Given the description of an element on the screen output the (x, y) to click on. 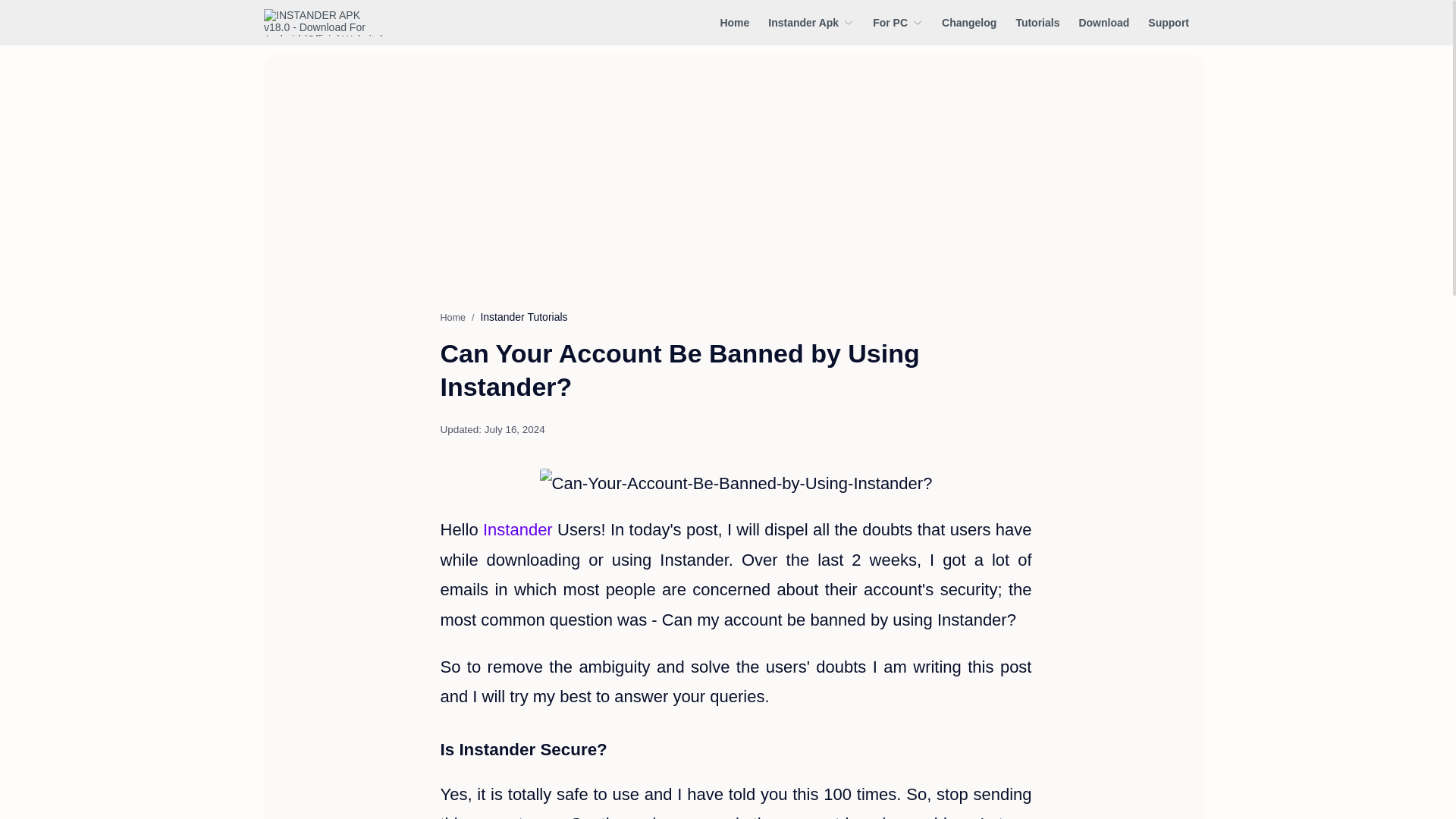
Last updated: July 16, 2024 (491, 429)
Instander (518, 529)
Tutorials (1036, 22)
Home (452, 317)
Download (1103, 22)
Can Your Account Be Banned by Using Instander? (736, 483)
Instander Tutorials (523, 316)
Home (734, 22)
Support (1168, 22)
Changelog (968, 22)
